Given the description of an element on the screen output the (x, y) to click on. 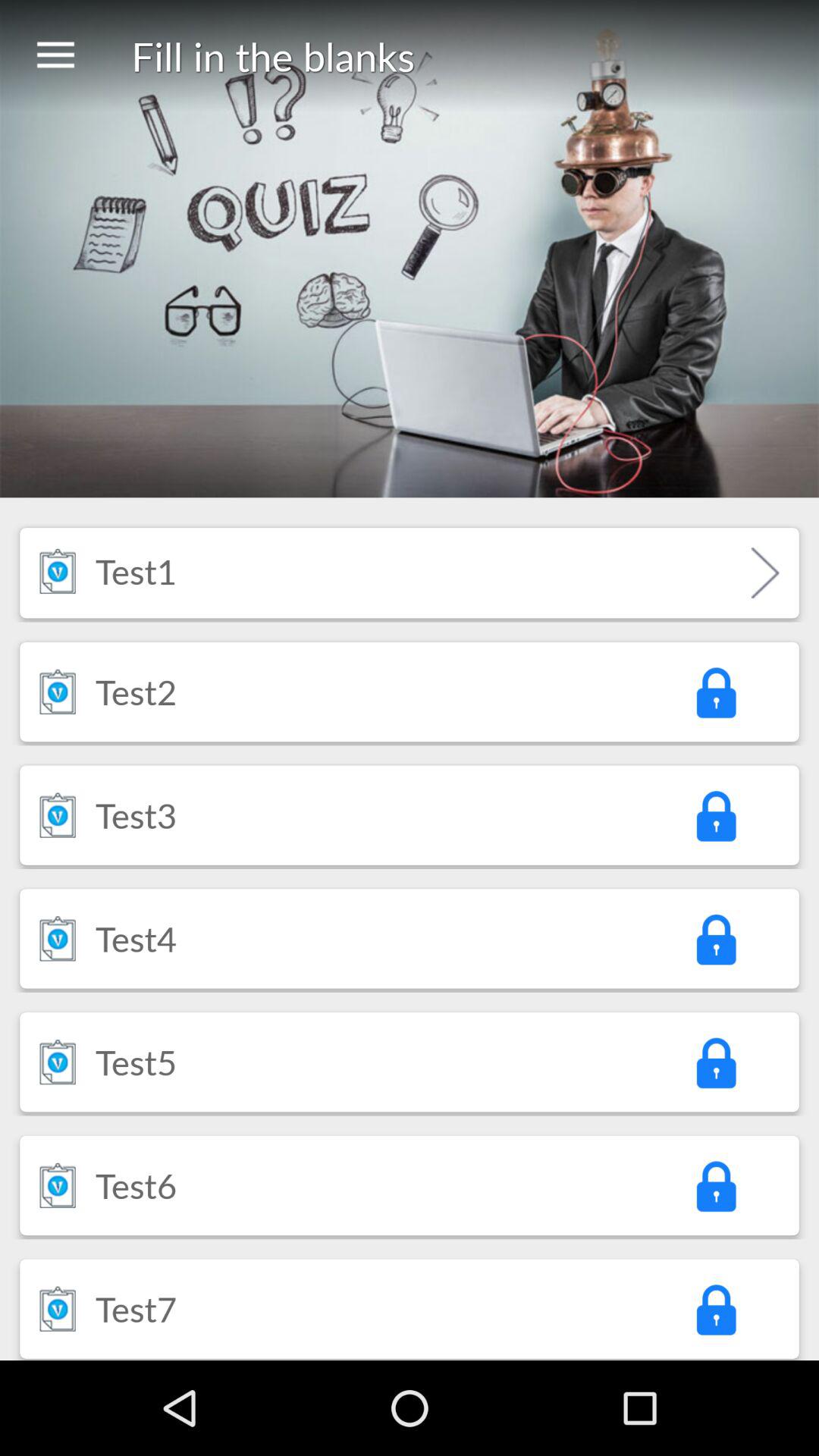
tap test2 icon (135, 691)
